Given the description of an element on the screen output the (x, y) to click on. 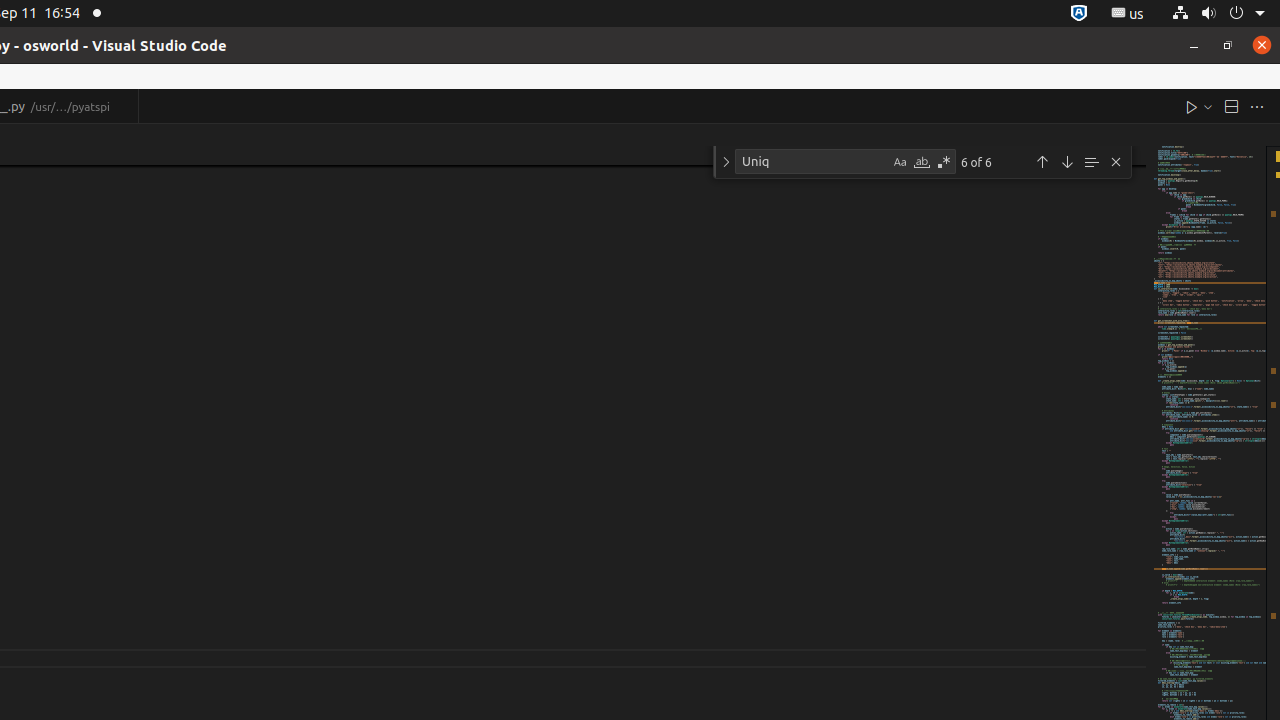
Previous Match (Shift+Enter) Element type: push-button (1042, 161)
:1.21/StatusNotifierItem Element type: menu (1127, 13)
Use Regular Expression (Alt+R) Element type: check-box (944, 162)
Close (Ctrl+W) Element type: push-button (124, 106)
